Given the description of an element on the screen output the (x, y) to click on. 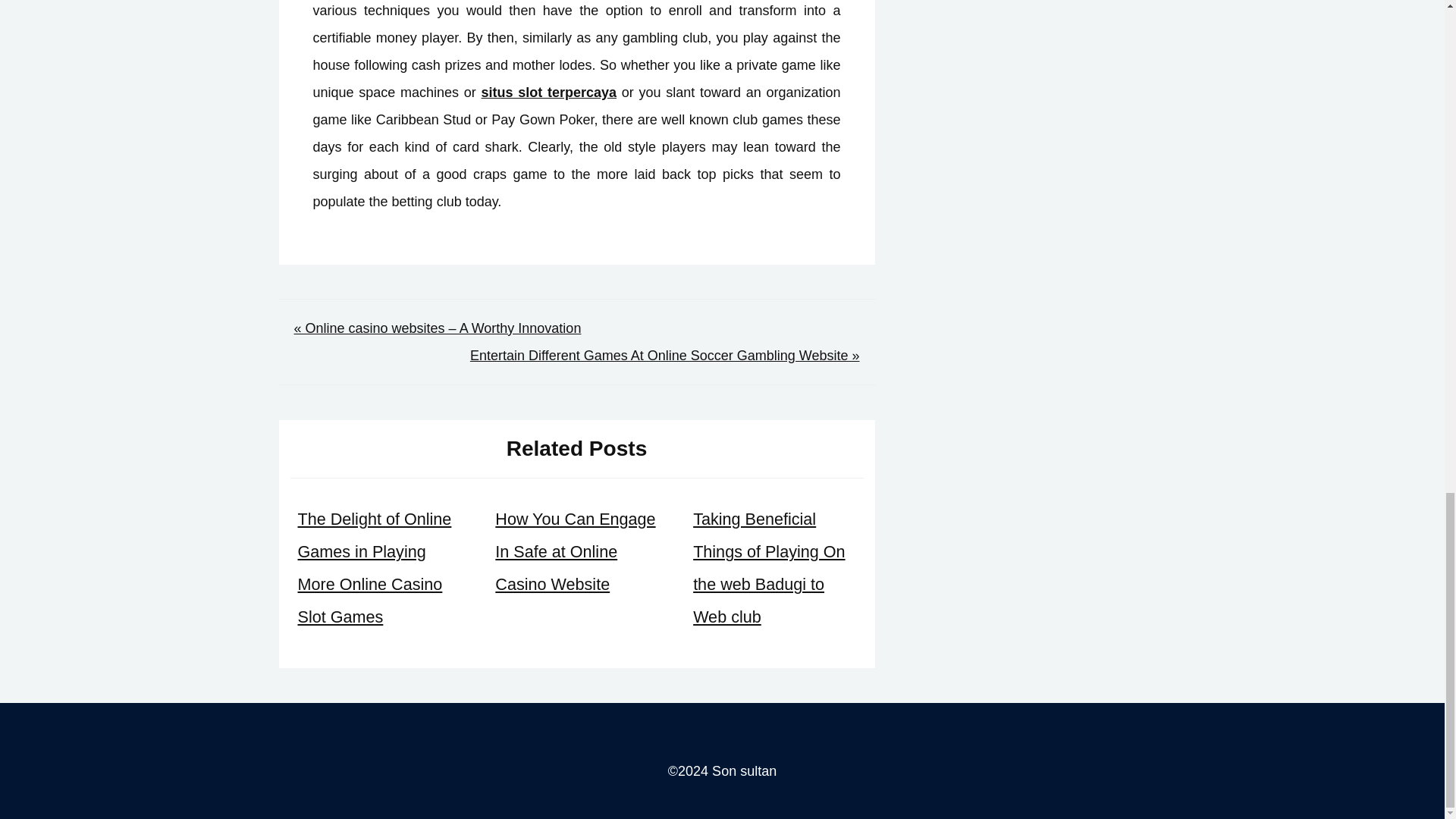
situs slot terpercaya (547, 92)
How You Can Engage In Safe at Online Casino Website (575, 551)
